Given the description of an element on the screen output the (x, y) to click on. 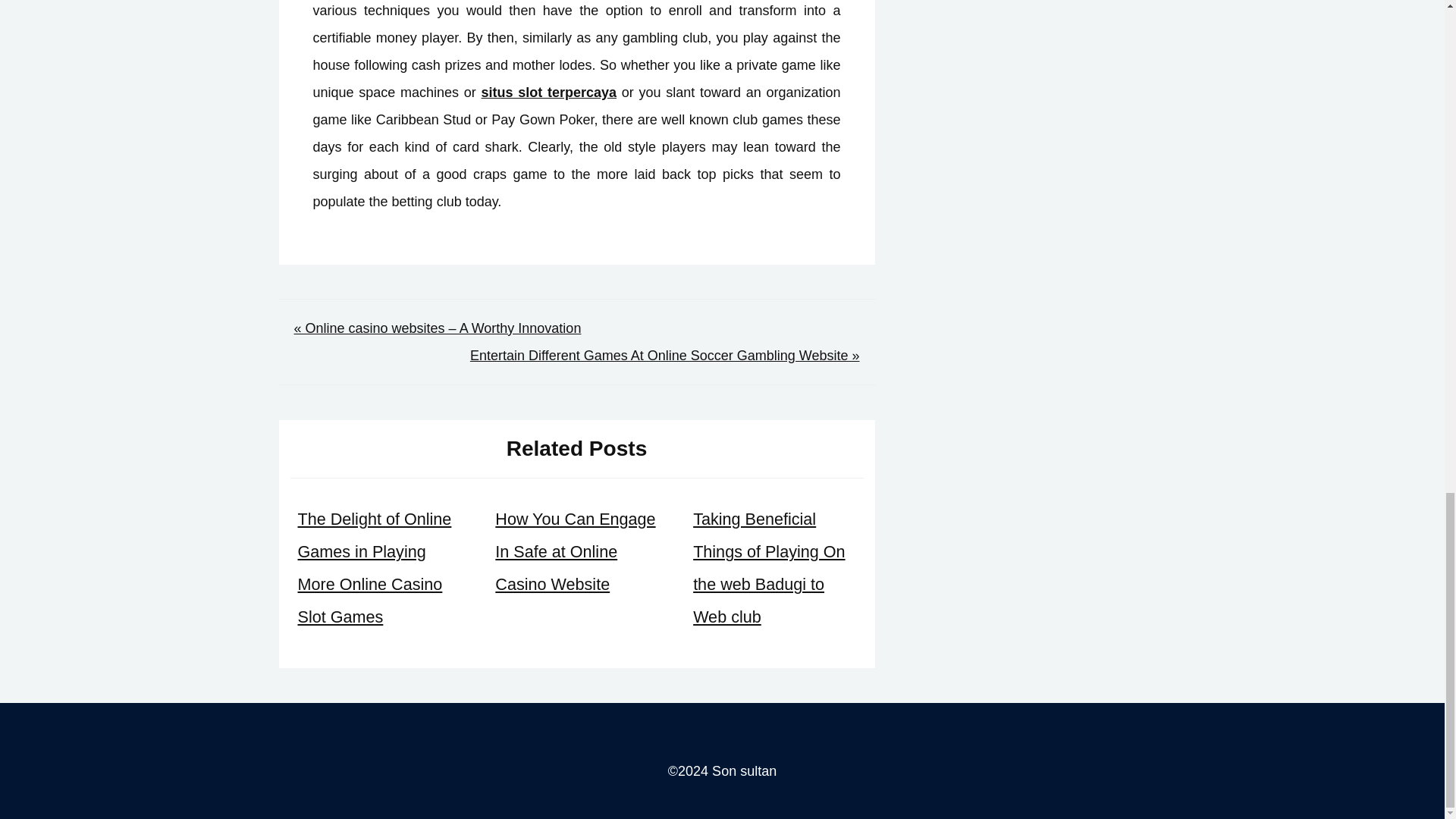
situs slot terpercaya (547, 92)
How You Can Engage In Safe at Online Casino Website (575, 551)
